Given the description of an element on the screen output the (x, y) to click on. 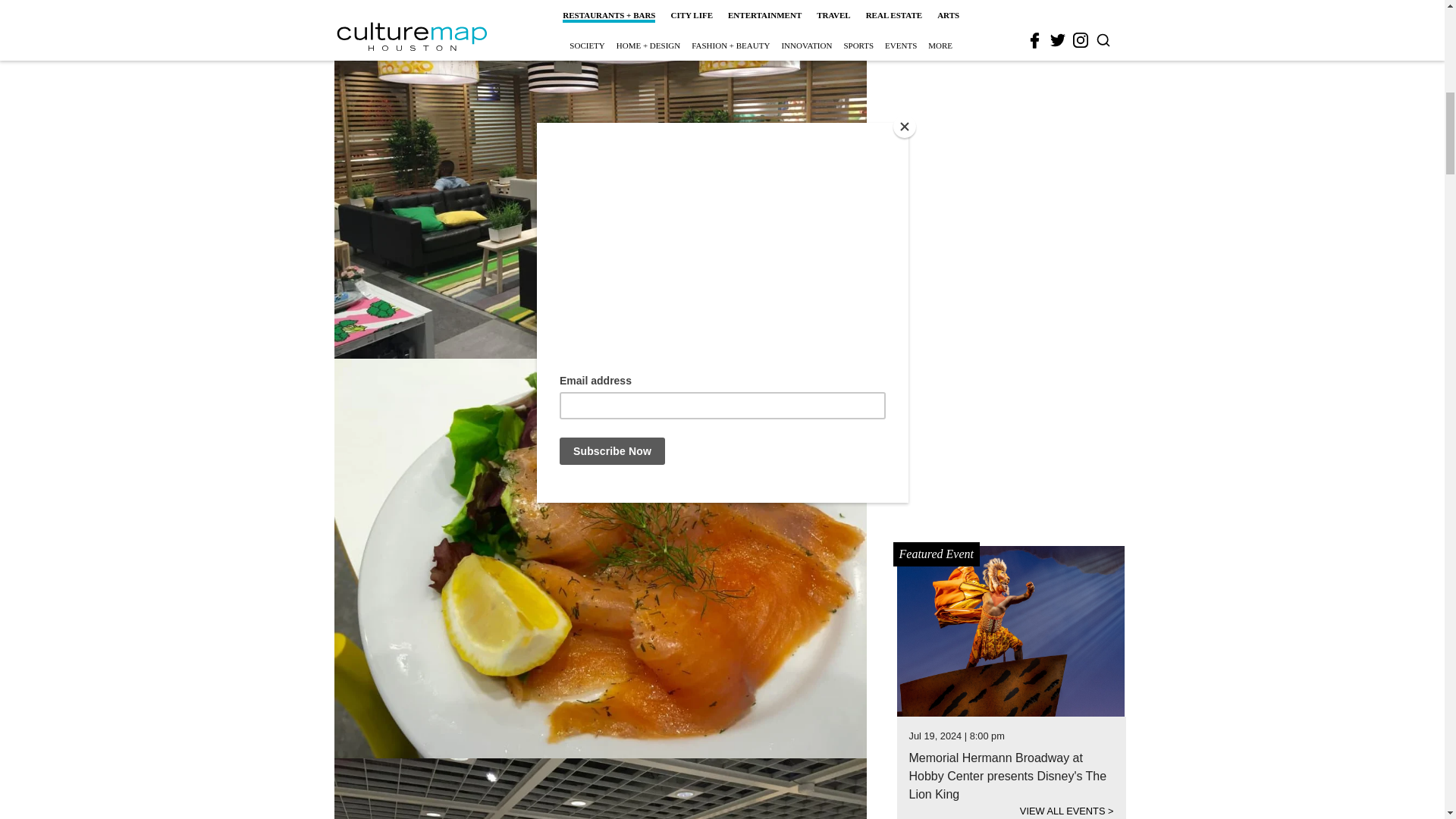
3rd party ad content (1011, 5)
